Given the description of an element on the screen output the (x, y) to click on. 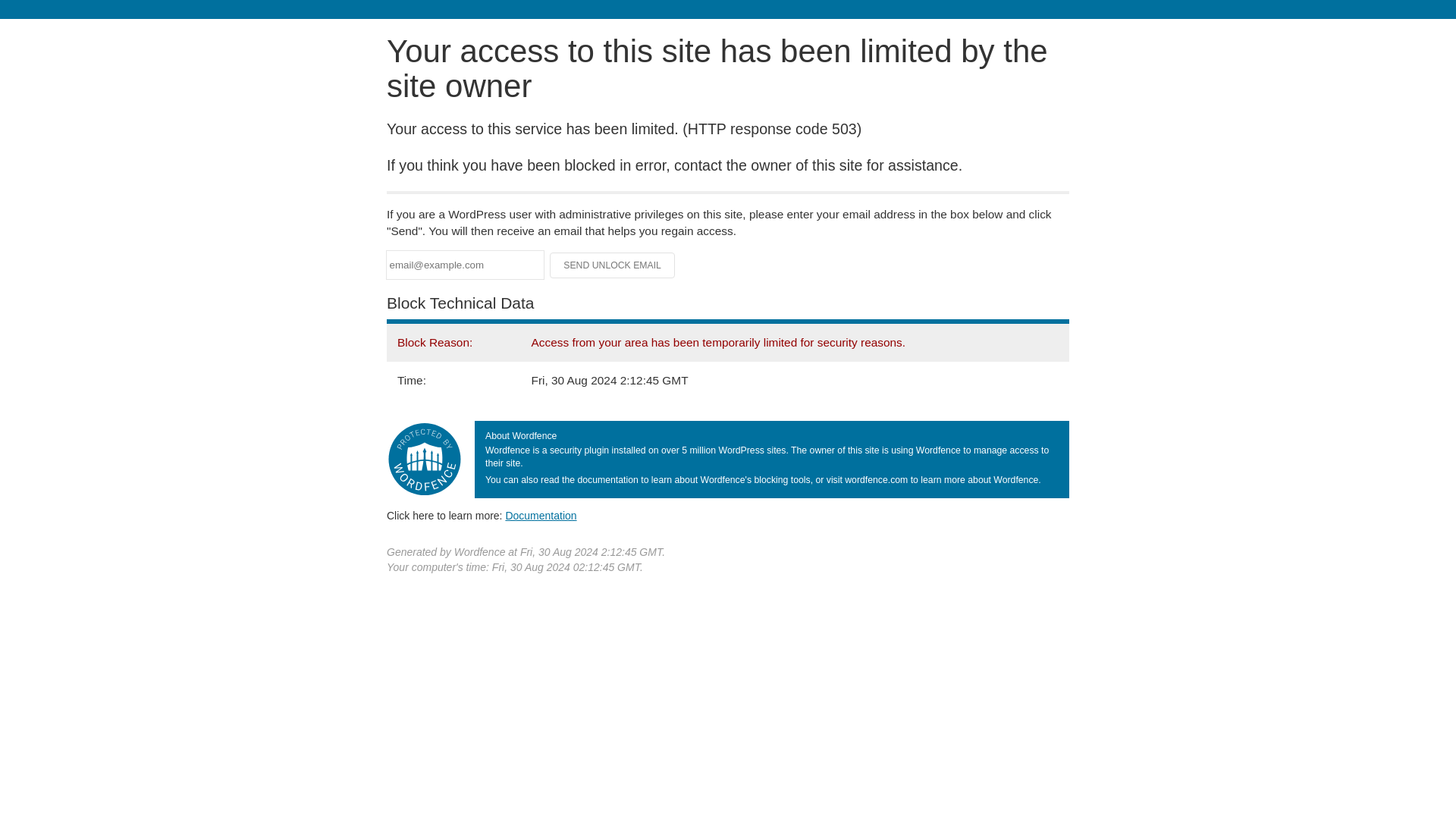
Documentation (540, 515)
Send Unlock Email (612, 265)
Send Unlock Email (612, 265)
